Given the description of an element on the screen output the (x, y) to click on. 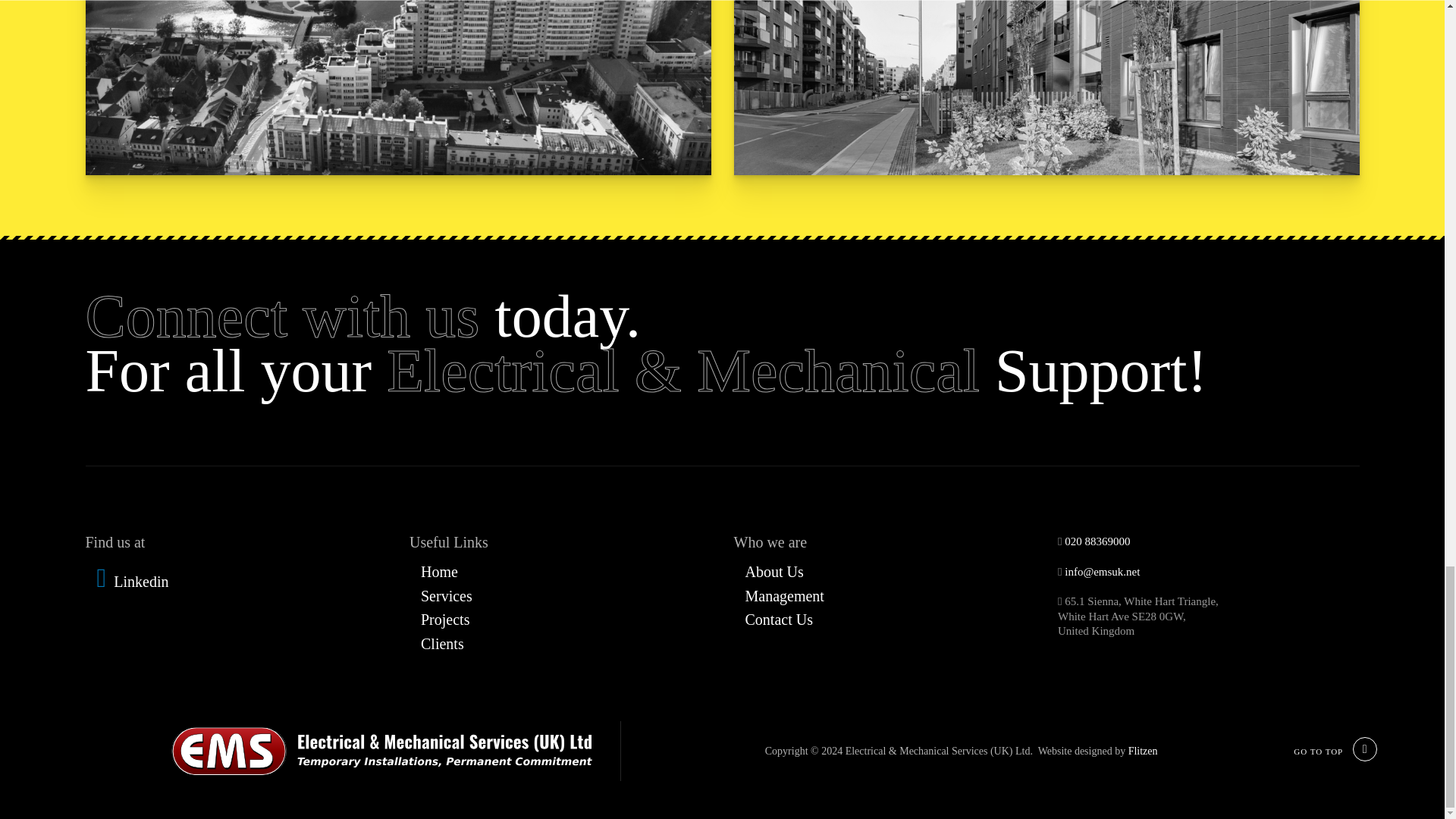
Connect with us (281, 315)
project home page image (1046, 87)
project-new-img-1 (397, 87)
